Given the description of an element on the screen output the (x, y) to click on. 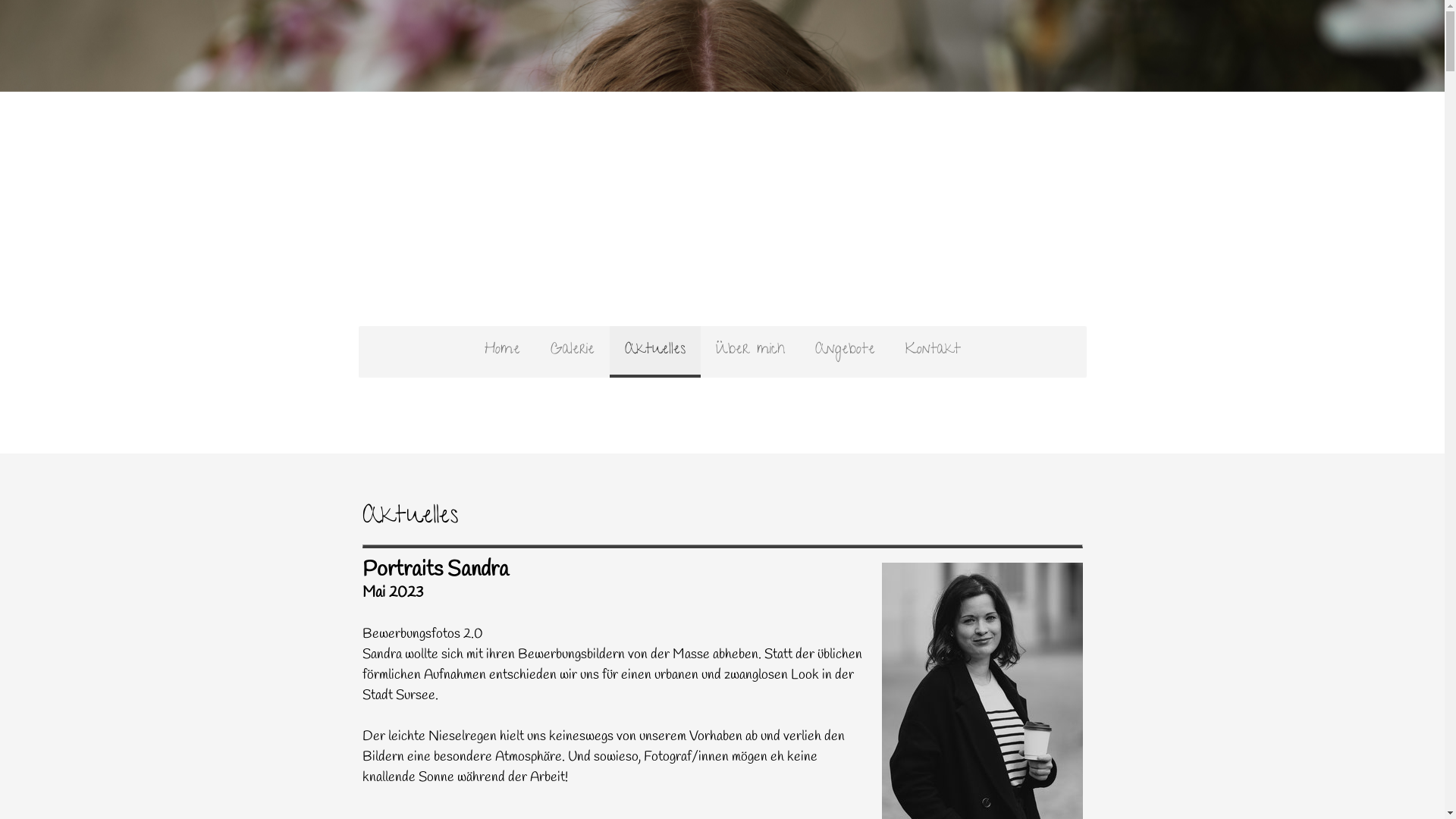
Kontakt Element type: text (932, 351)
Home Element type: text (501, 351)
Angebote Element type: text (844, 351)
Aktuelles Element type: text (654, 351)
Galerie Element type: text (572, 351)
